Given the description of an element on the screen output the (x, y) to click on. 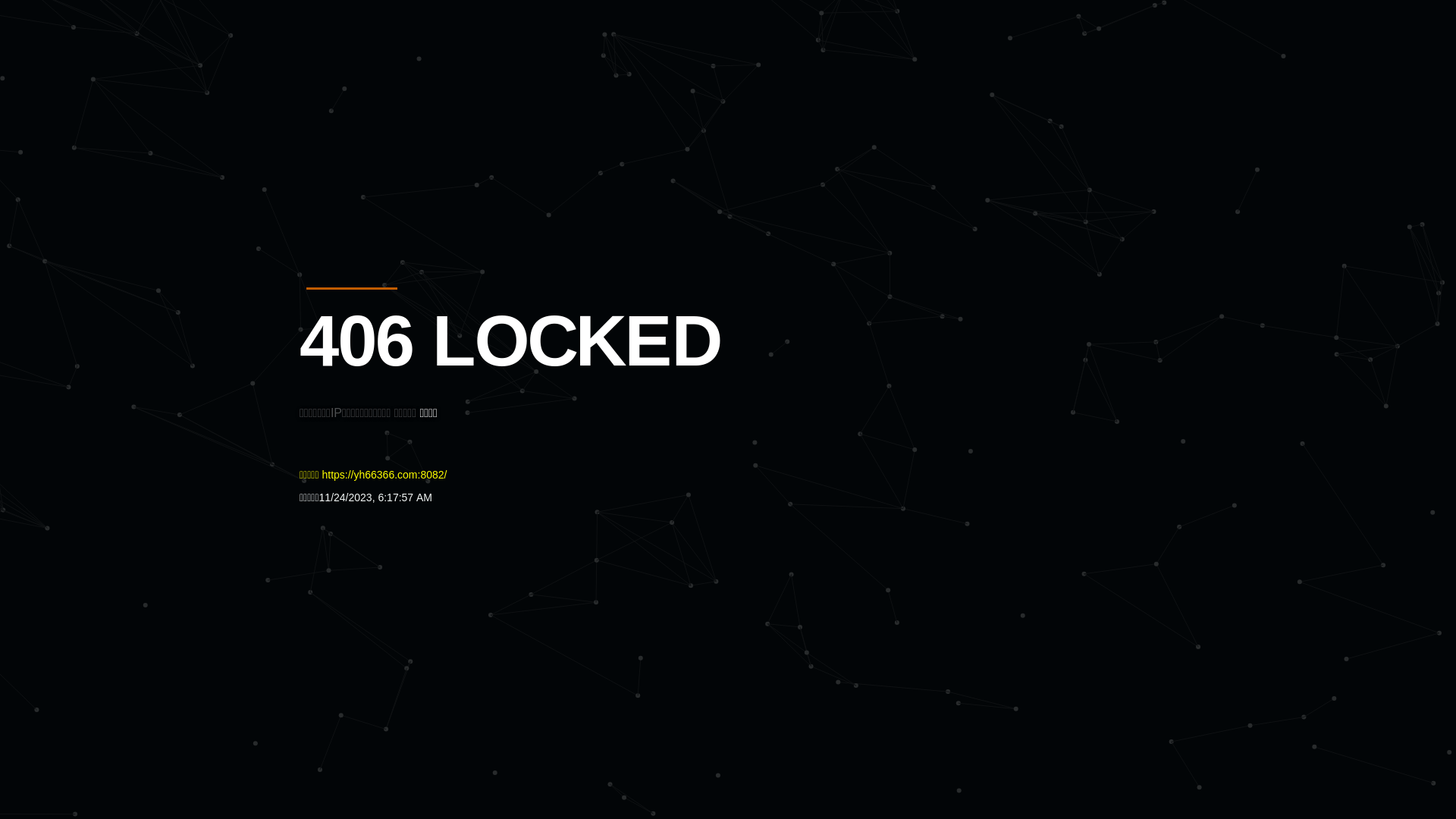
Quatro Element type: text (410, 86)
